Given the description of an element on the screen output the (x, y) to click on. 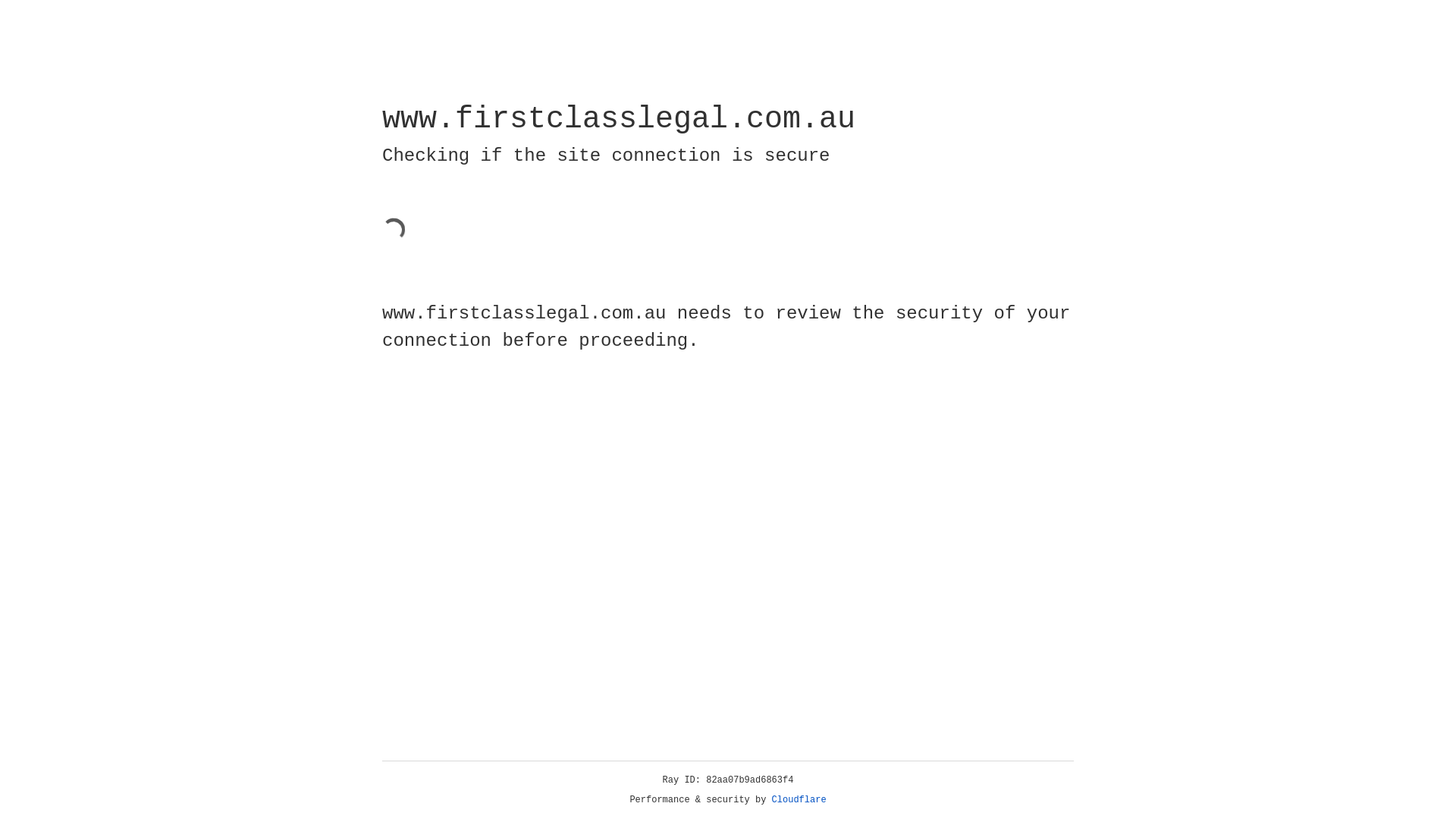
Cloudflare Element type: text (798, 799)
